Given the description of an element on the screen output the (x, y) to click on. 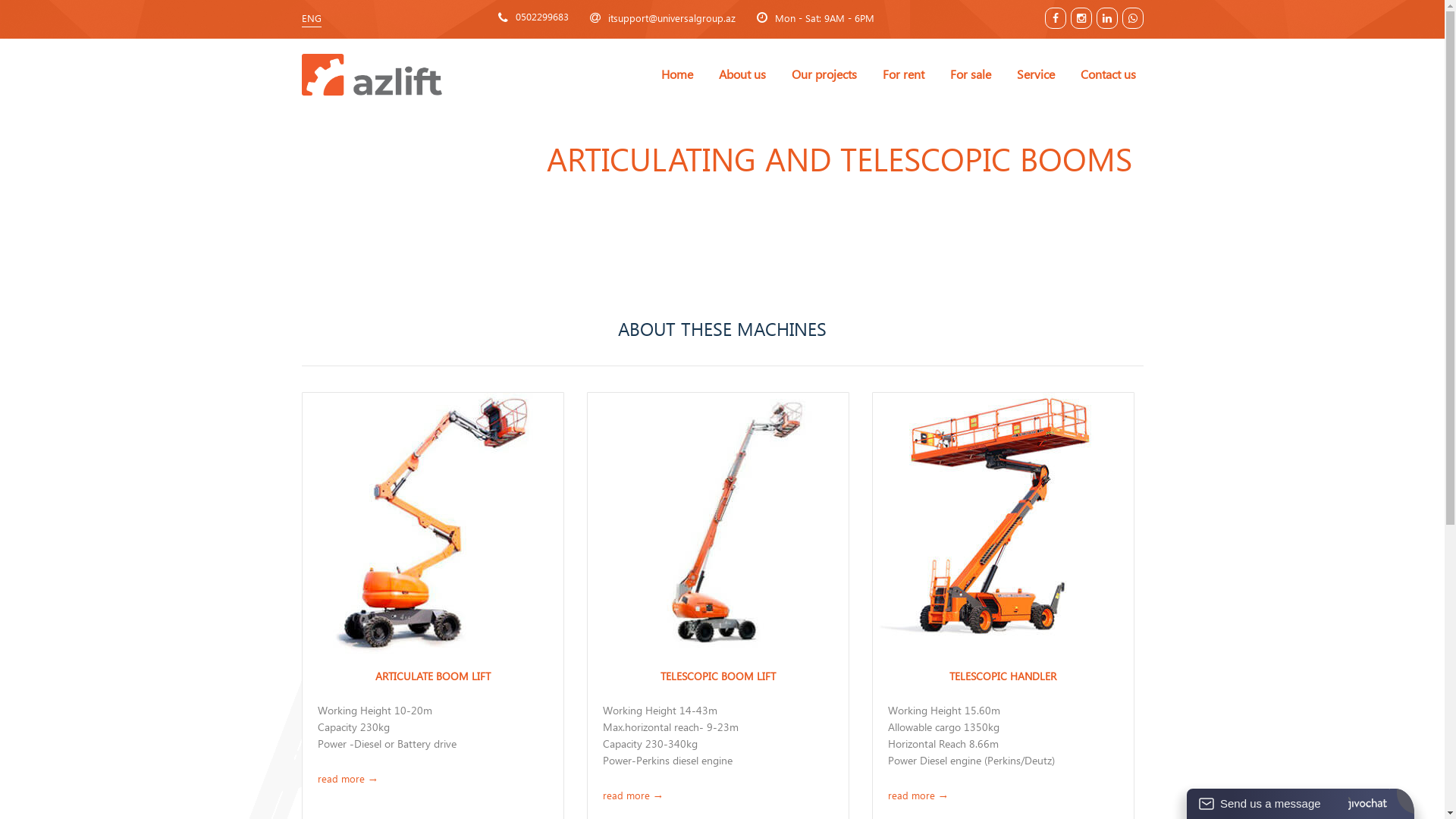
For sale Element type: text (969, 73)
itsupport@universalgroup.az Element type: text (662, 15)
ARTICULATE BOOM LIFT Element type: text (432, 675)
0502299683 Element type: text (541, 15)
Contact us Element type: text (1107, 73)
About us Element type: text (741, 73)
Our projects Element type: text (823, 73)
For rent Element type: text (903, 73)
TELESCOPIC HANDLER Element type: text (1002, 675)
Service Element type: text (1035, 73)
ENG Element type: text (311, 17)
Home Element type: text (677, 73)
TELESCOPIC BOOM LIFT Element type: text (717, 675)
